Given the description of an element on the screen output the (x, y) to click on. 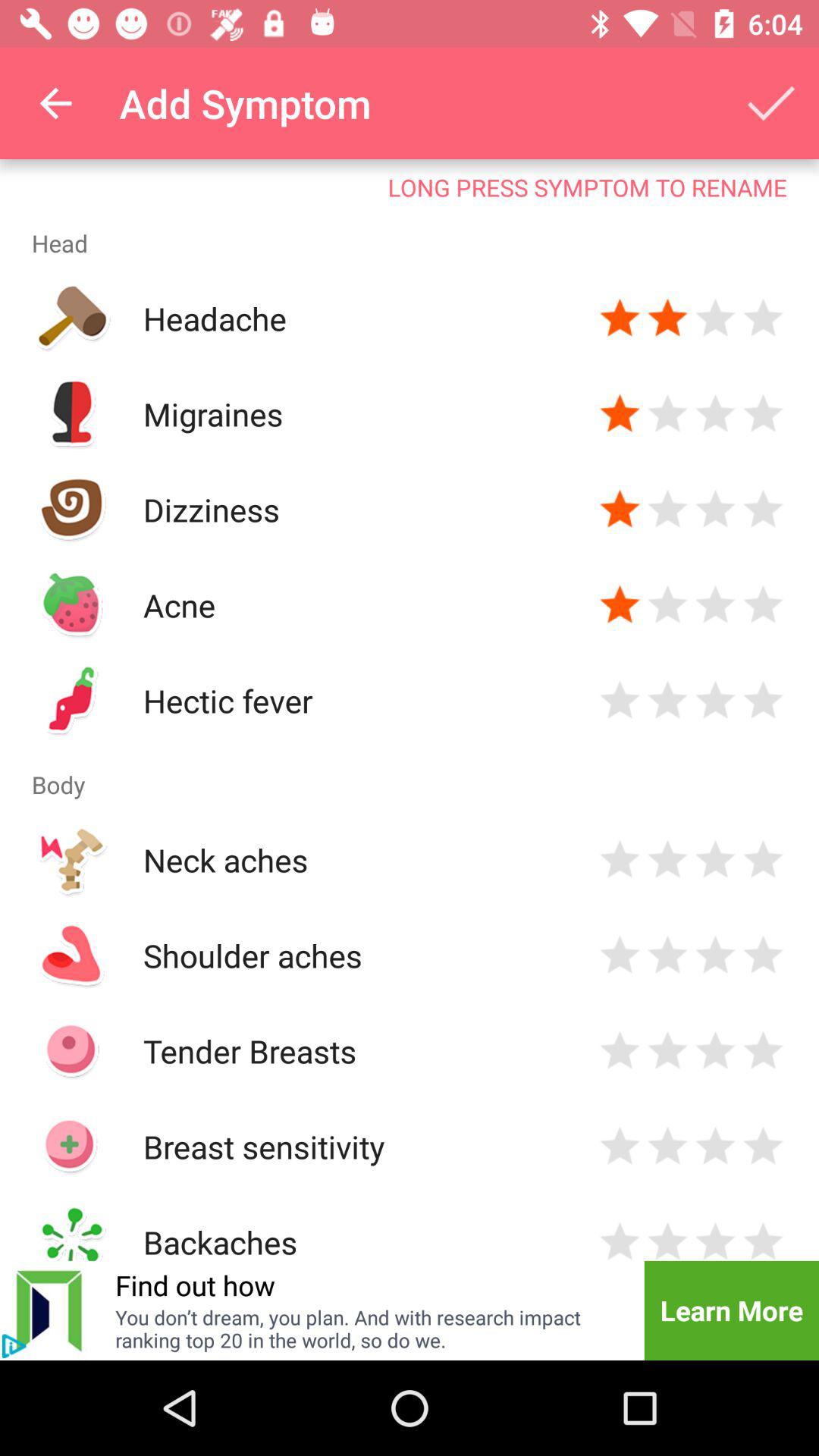
choose three stars for neck aches option (715, 859)
